Given the description of an element on the screen output the (x, y) to click on. 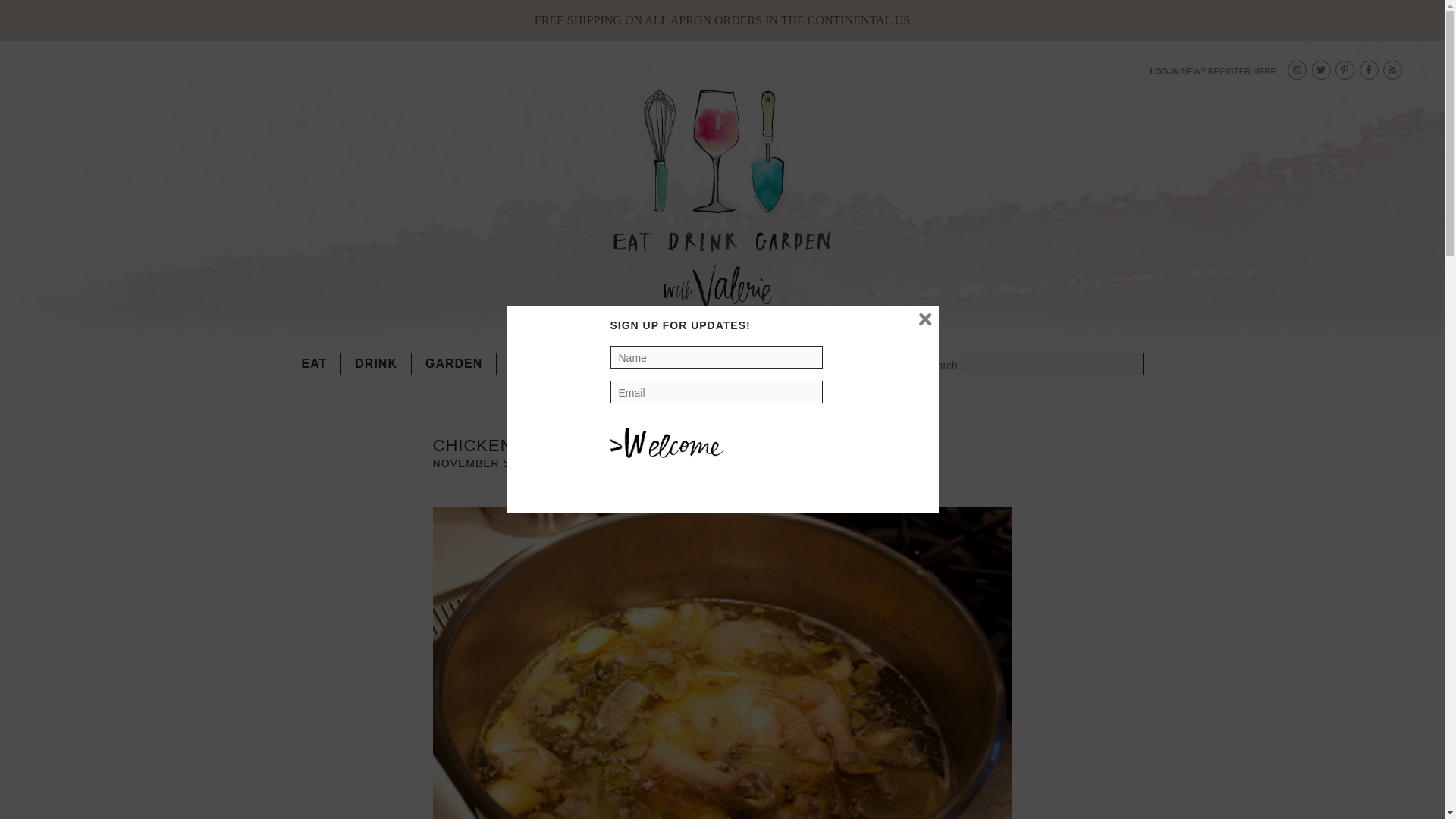
SHOP (529, 363)
DRINK (376, 363)
LOG-IN (1164, 71)
EVENTS (751, 363)
PRESS (673, 363)
GARDEN (454, 363)
EAT (321, 363)
CONTACT (837, 363)
ABOUT (599, 363)
HERE (1264, 71)
